Given the description of an element on the screen output the (x, y) to click on. 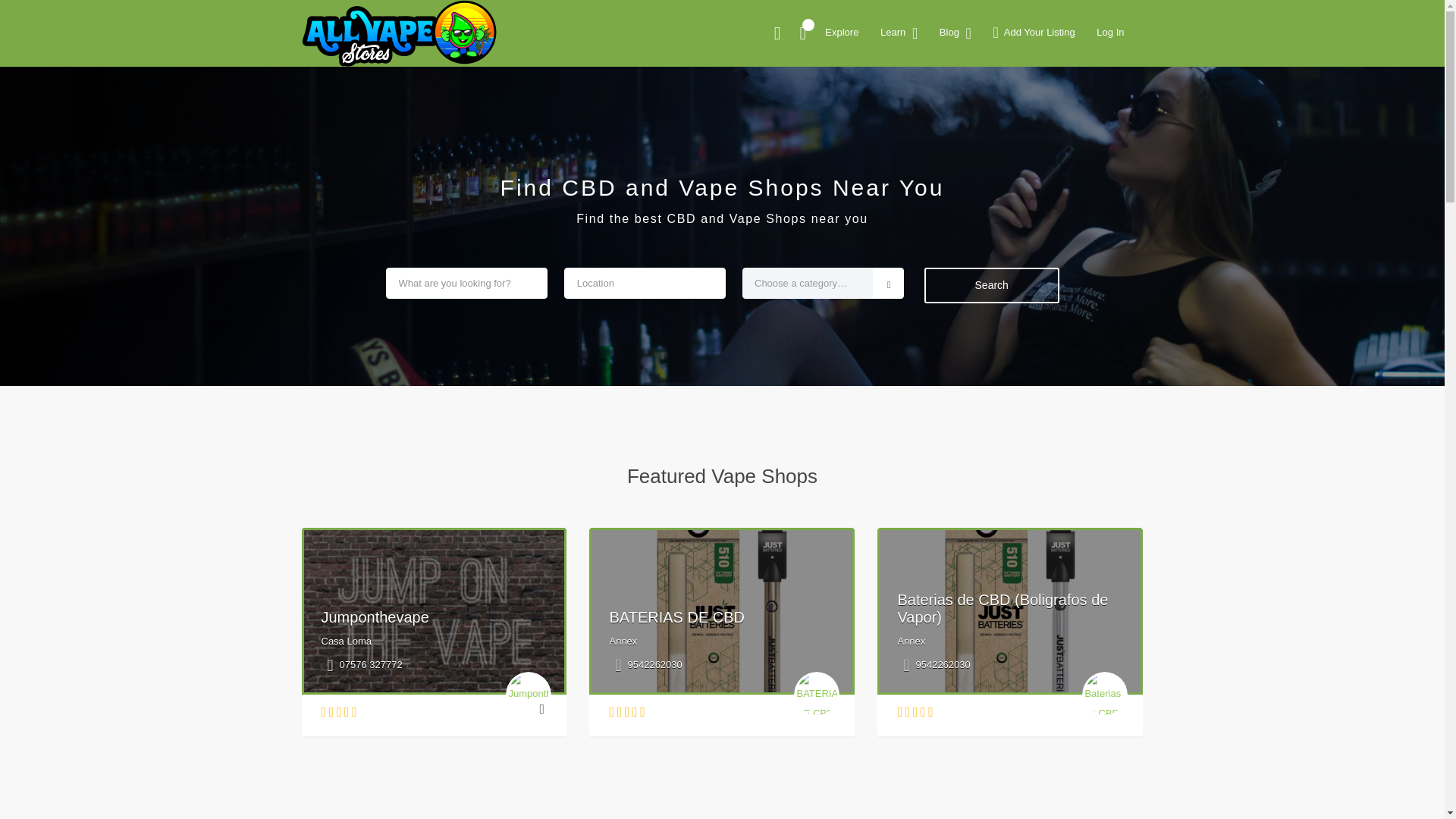
Log in (980, 588)
Blog (976, 510)
Terms of Use (996, 330)
Contact Us (991, 258)
DMCA Policy (996, 282)
ADMINISTRATOR (417, 118)
Search (1050, 85)
Disclaimer (990, 354)
Search (1050, 85)
Skip to content (34, 9)
ONEDAY247.COM (385, 28)
Privacy Policy (999, 306)
Search for: (1049, 47)
September 2020 (1005, 432)
Search (1050, 85)
